Given the description of an element on the screen output the (x, y) to click on. 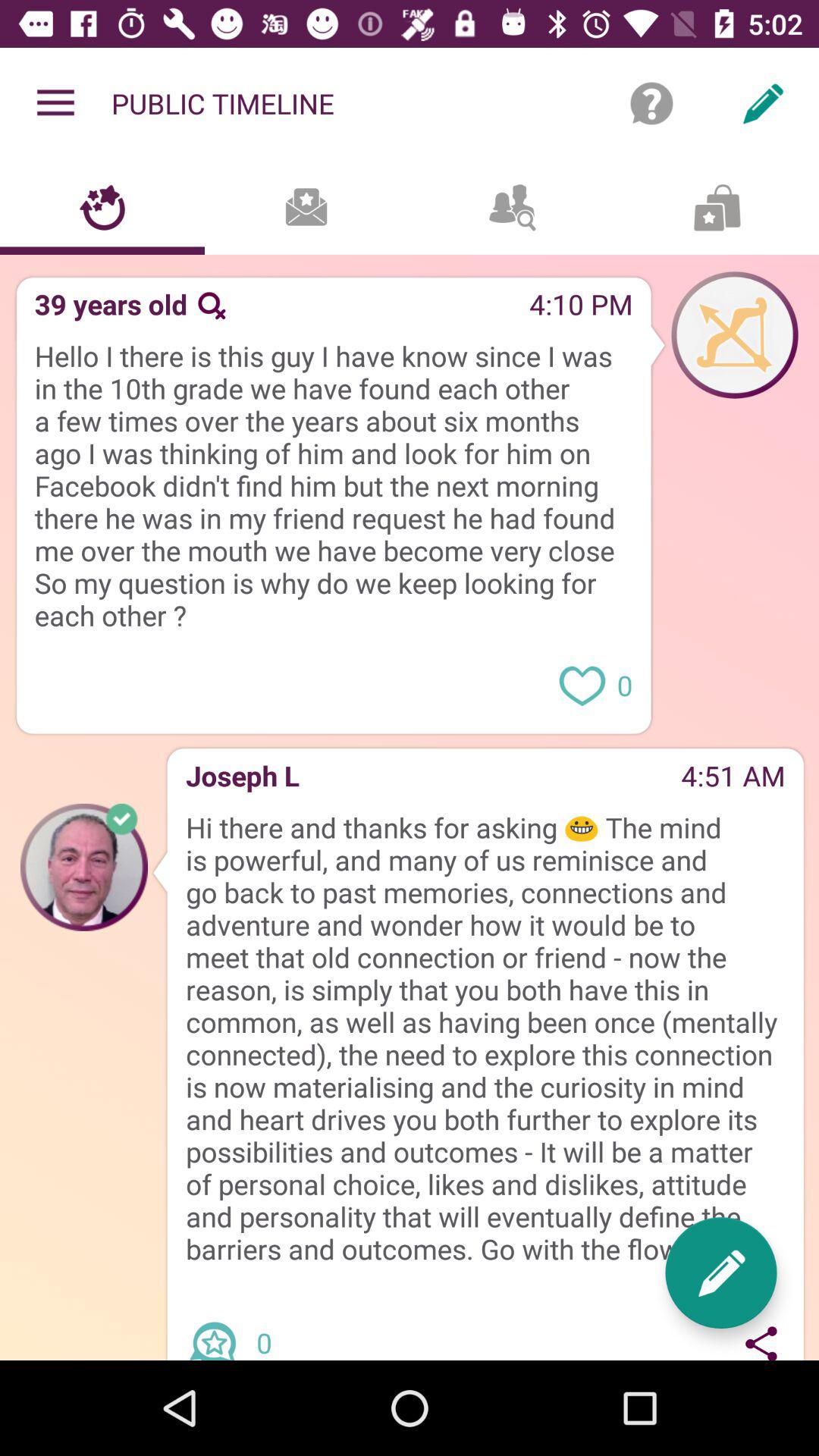
like (582, 684)
